Given the description of an element on the screen output the (x, y) to click on. 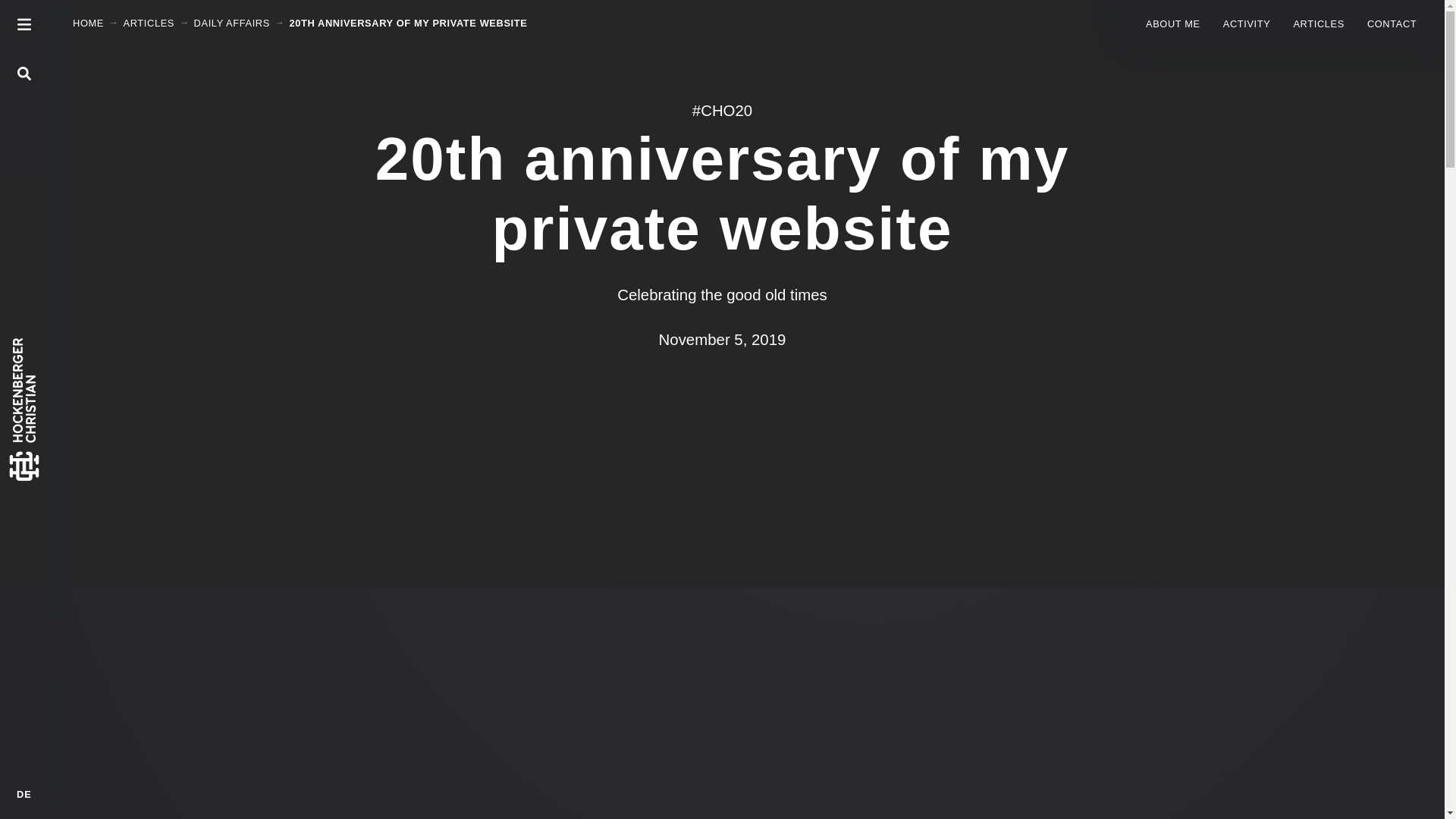
ABOUT ME (1172, 23)
ARTICLES (1317, 23)
DE (24, 794)
HOME (87, 22)
ACTIVITY (1247, 23)
CONTACT (1391, 23)
20TH ANNIVERSARY OF MY PRIVATE WEBSITE (407, 22)
DAILY AFFAIRS (231, 22)
ARTICLES (148, 22)
